Given the description of an element on the screen output the (x, y) to click on. 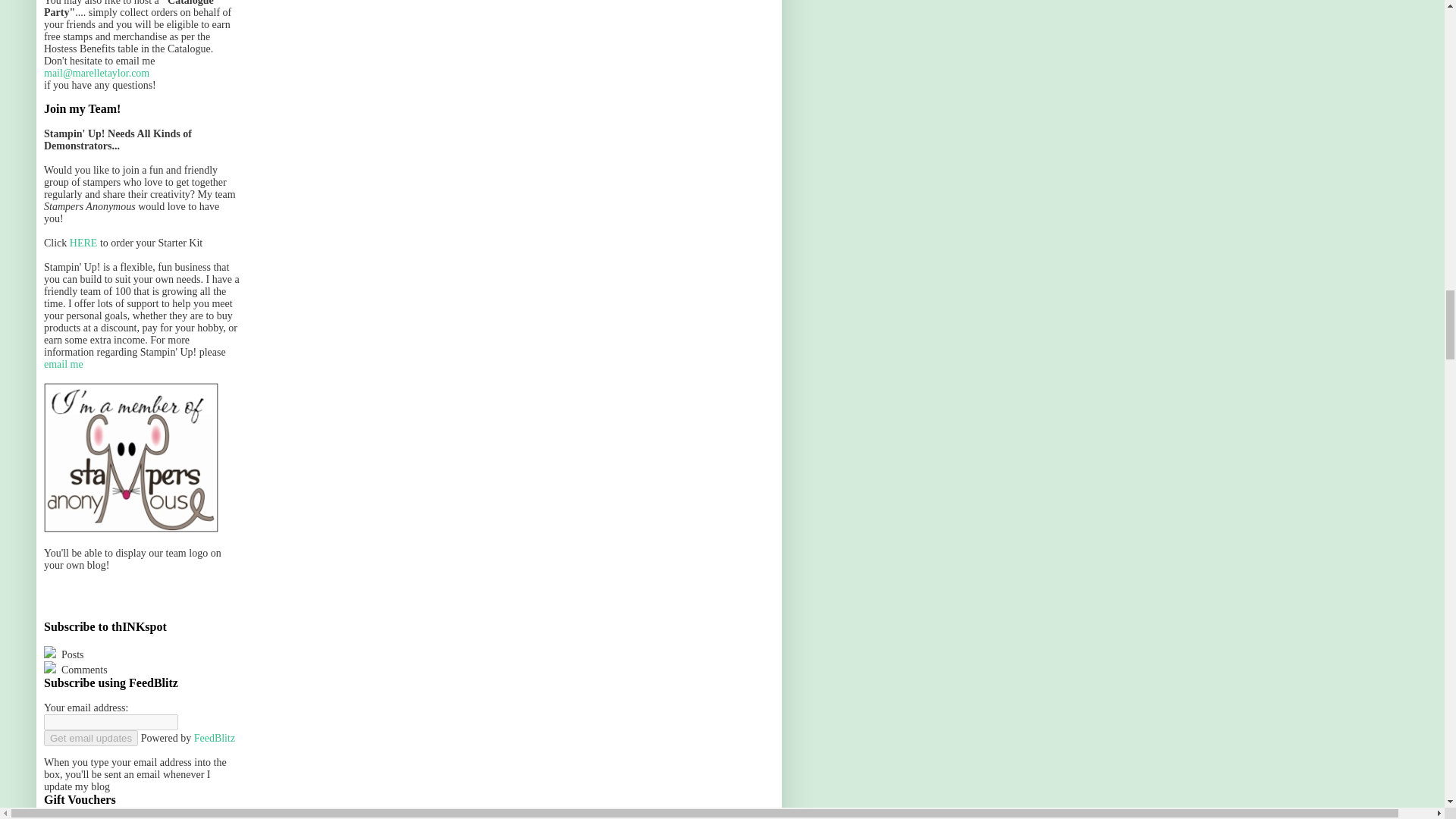
Get email updates (90, 738)
